Given the description of an element on the screen output the (x, y) to click on. 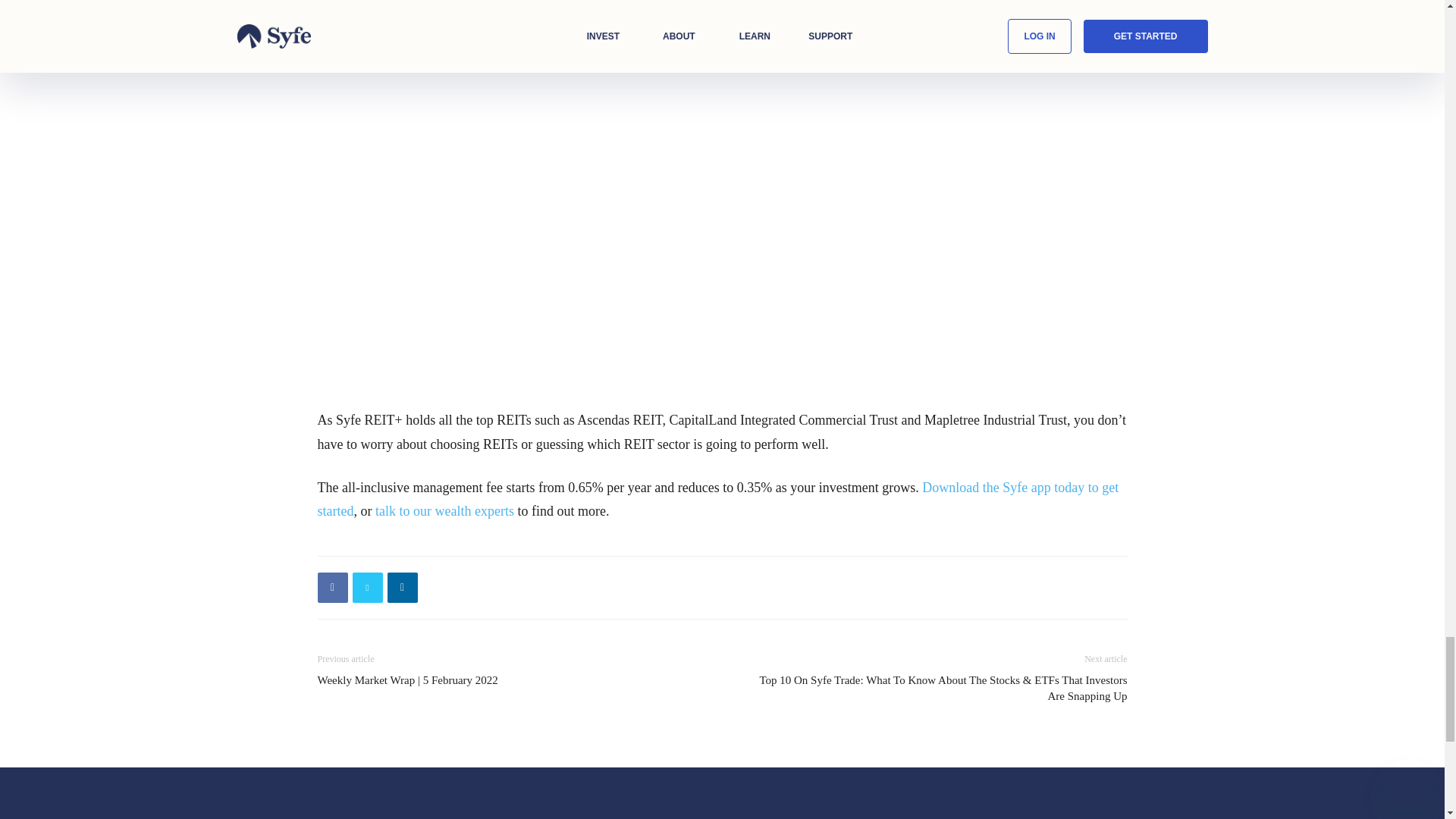
Facebook (332, 587)
Twitter (366, 587)
Linkedin (401, 587)
